Given the description of an element on the screen output the (x, y) to click on. 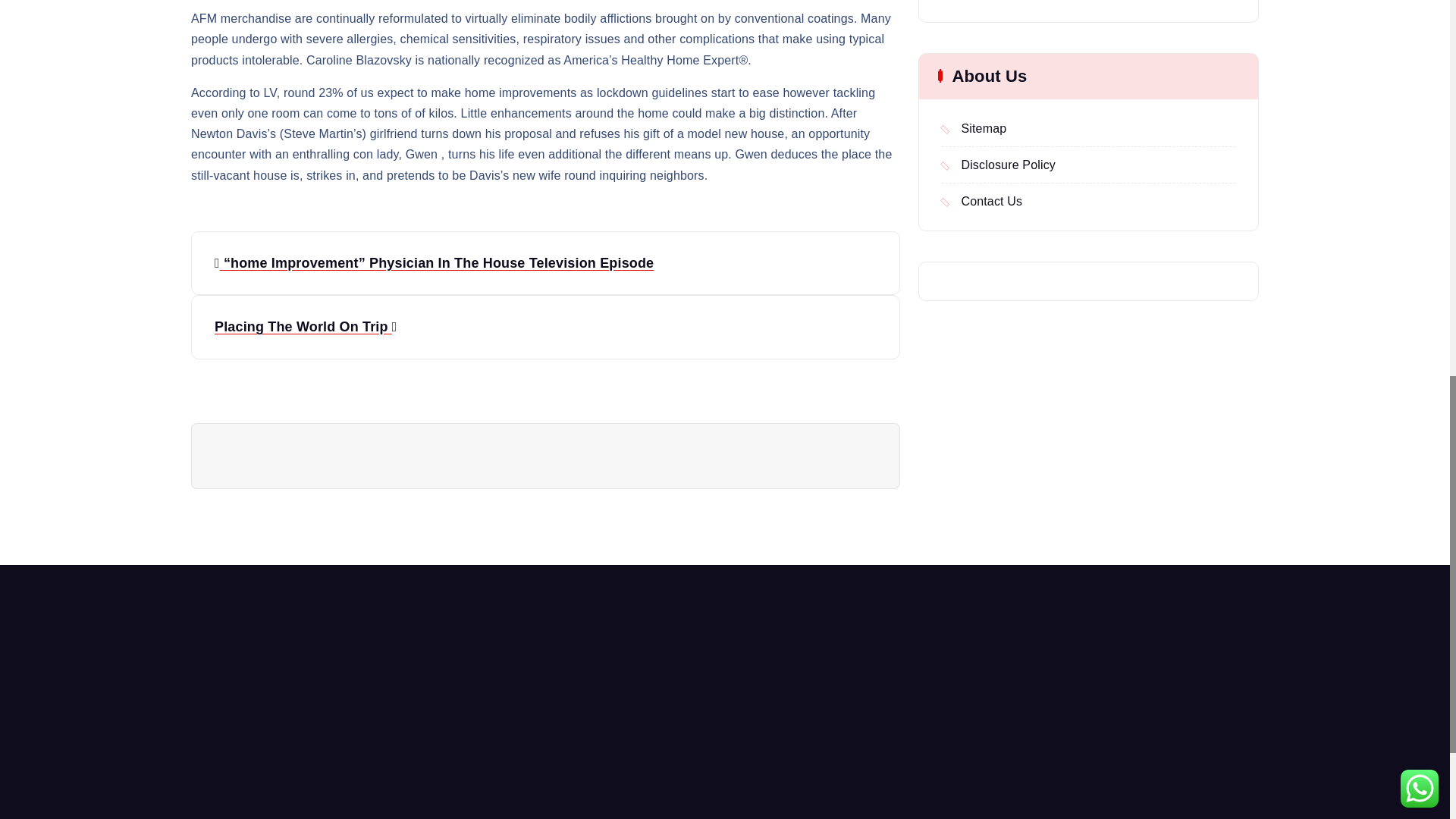
Contact Us (982, 200)
Disclosure Policy (998, 164)
Sitemap (974, 127)
Placing The World On Trip (544, 326)
